Given the description of an element on the screen output the (x, y) to click on. 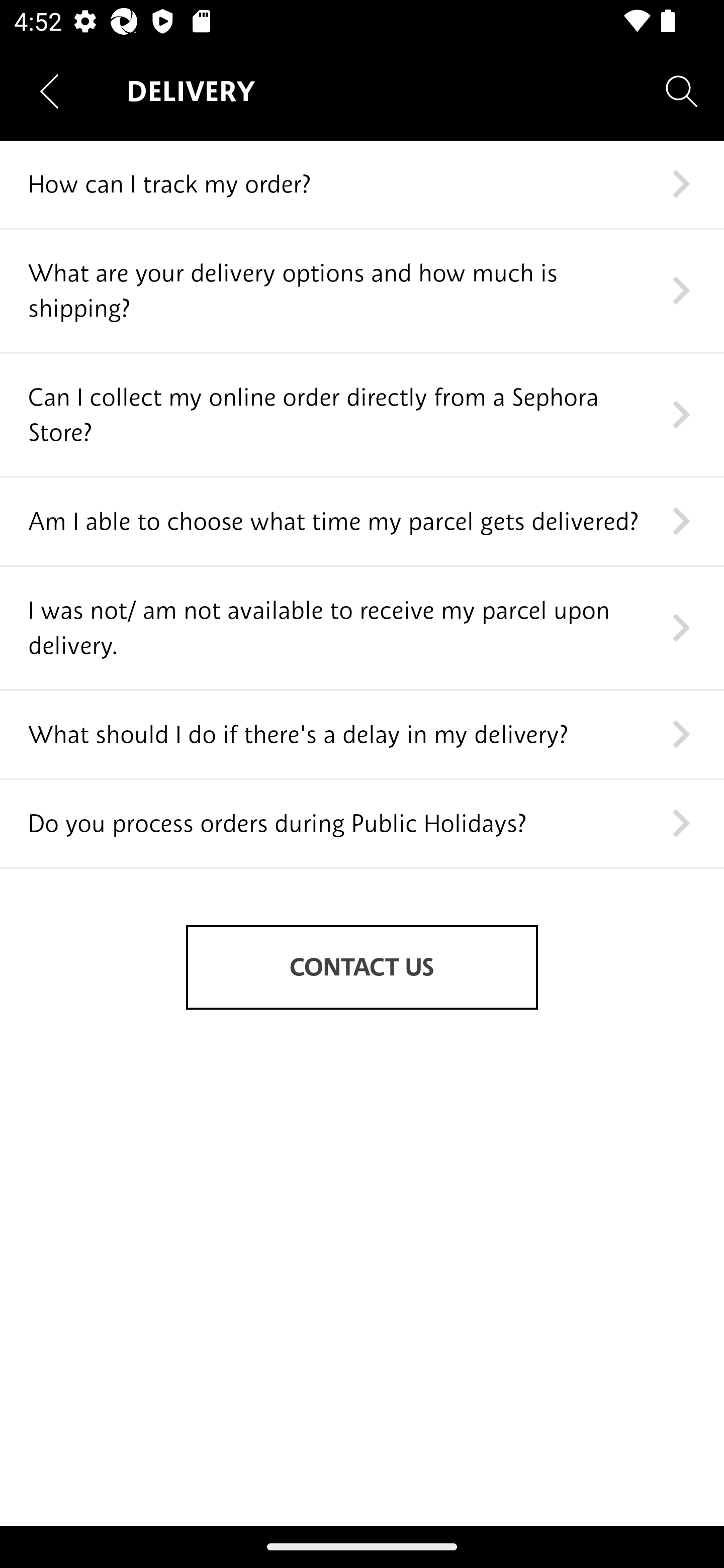
Navigate up (49, 91)
Search (681, 90)
How can I track my order? (362, 184)
Do you process orders during Public Holidays? (362, 823)
CONTACT US (361, 967)
